Given the description of an element on the screen output the (x, y) to click on. 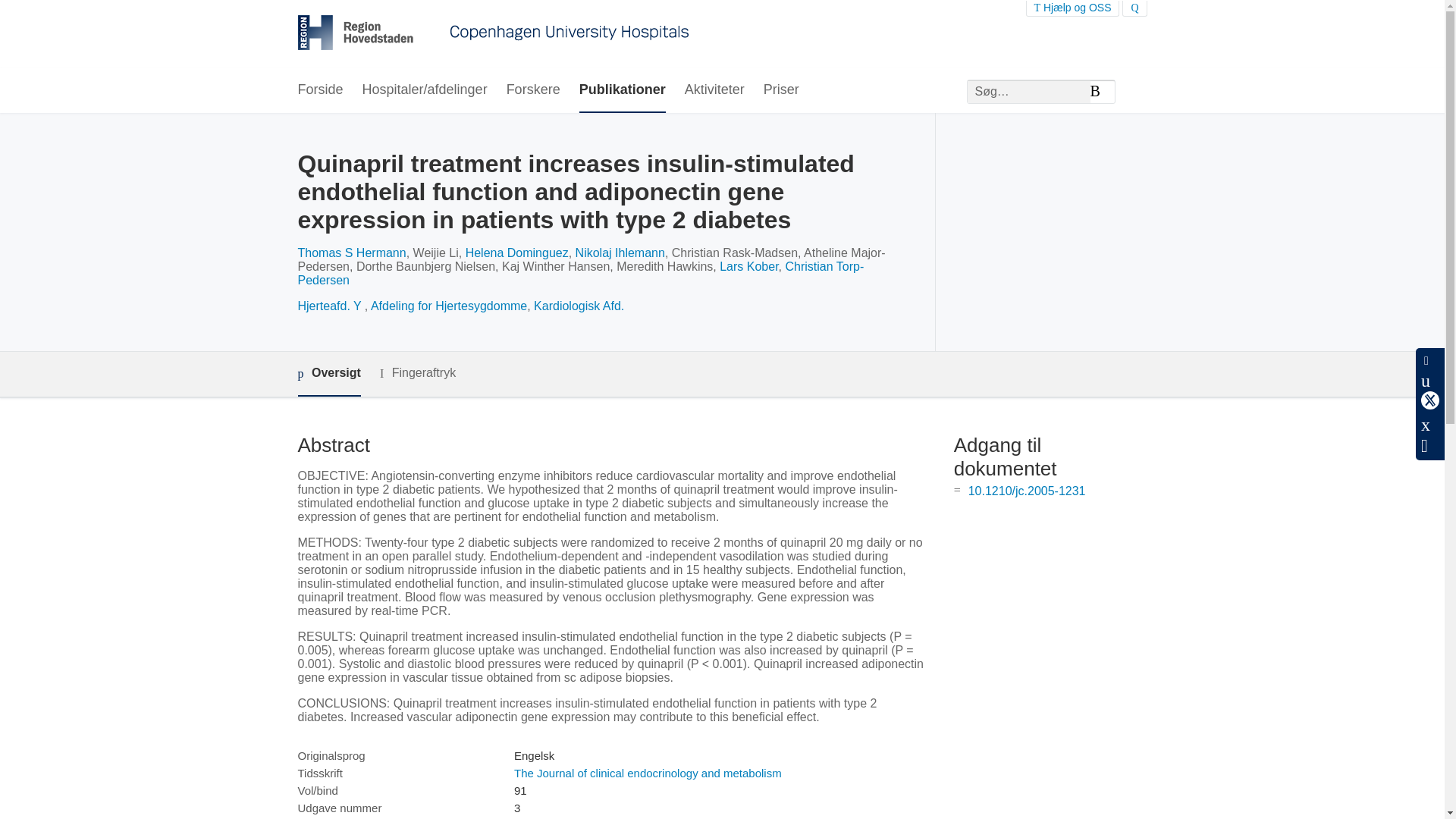
Hjerteafd. Y (330, 305)
Kardiologisk Afd. (579, 305)
Christian Torp-Pedersen (580, 273)
Afdeling for Hjertesygdomme (449, 305)
Oversigt (328, 374)
The Journal of clinical endocrinology and metabolism (647, 772)
Fingeraftryk (417, 373)
Lars Kober (748, 266)
Helena Dominguez (517, 252)
Region Hovedstadens forskningsportal Forside (492, 34)
Thomas S Hermann (351, 252)
Forside (319, 90)
Aktiviteter (714, 90)
Nikolaj Ihlemann (620, 252)
